Given the description of an element on the screen output the (x, y) to click on. 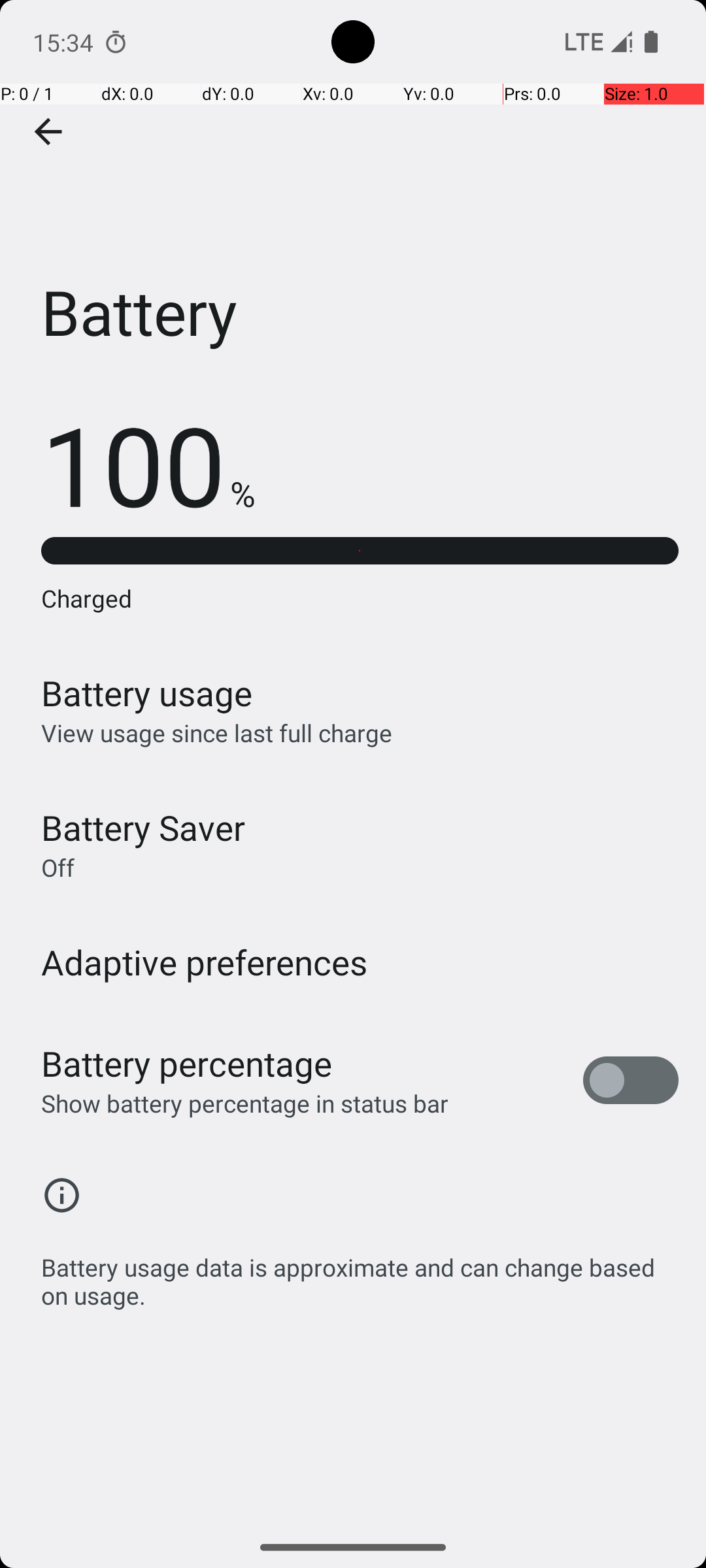
Charged Element type: android.widget.TextView (359, 597)
View usage since last full charge Element type: android.widget.TextView (216, 732)
Adaptive preferences Element type: android.widget.TextView (204, 961)
Battery percentage Element type: android.widget.TextView (186, 1063)
Show battery percentage in status bar Element type: android.widget.TextView (244, 1102)
Battery usage data is approximate and can change based on usage. Element type: android.widget.TextView (359, 1274)
